Given the description of an element on the screen output the (x, y) to click on. 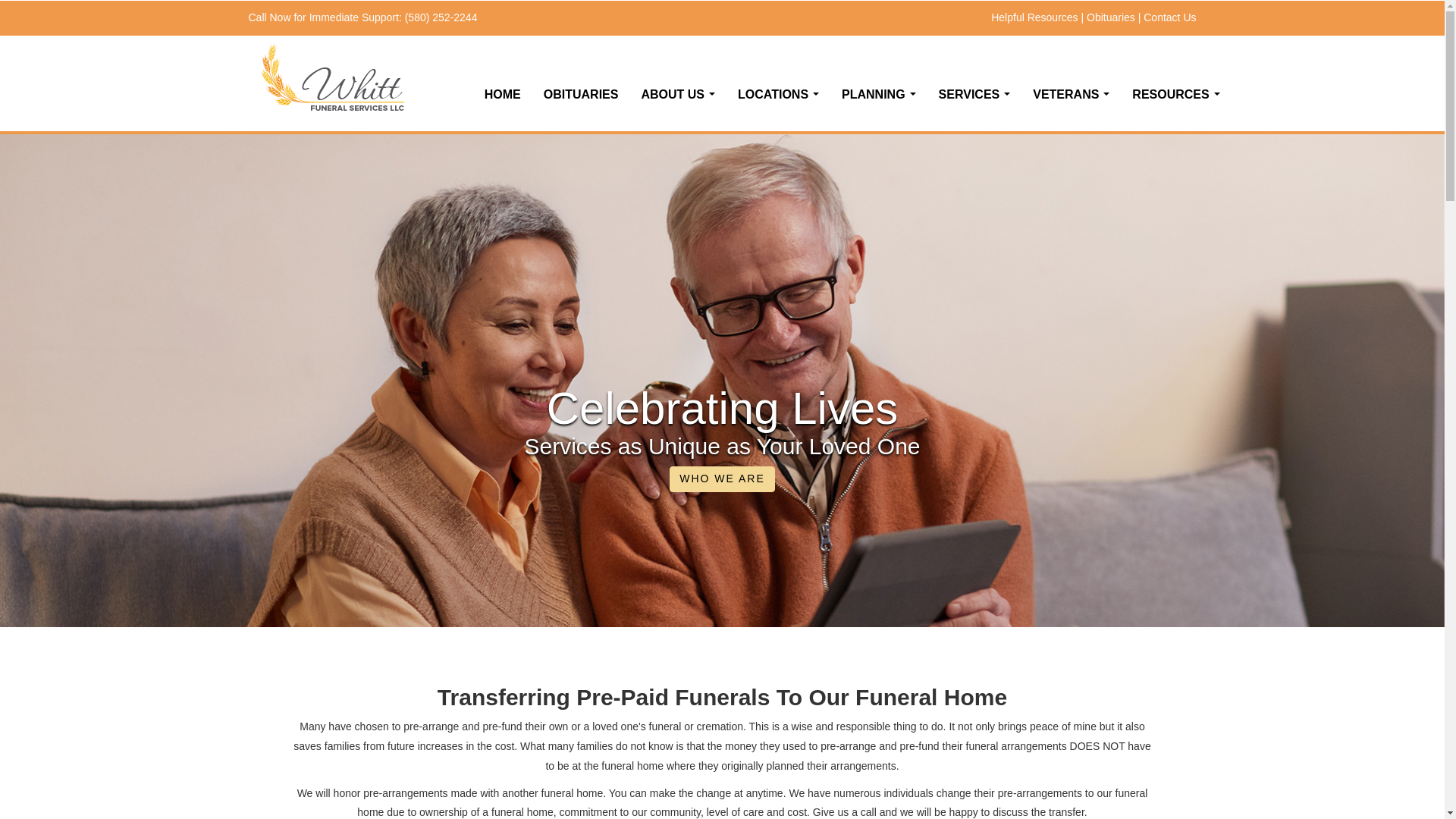
LOCATIONS... (777, 92)
HOME (502, 92)
Helpful Resources (1034, 17)
RESOURCES... (1175, 92)
SERVICES... (974, 92)
VETERANS... (1071, 92)
Contact Us (1168, 17)
OBITUARIES (581, 92)
Obituaries (1110, 17)
PLANNING... (878, 92)
ABOUT US... (677, 92)
